Given the description of an element on the screen output the (x, y) to click on. 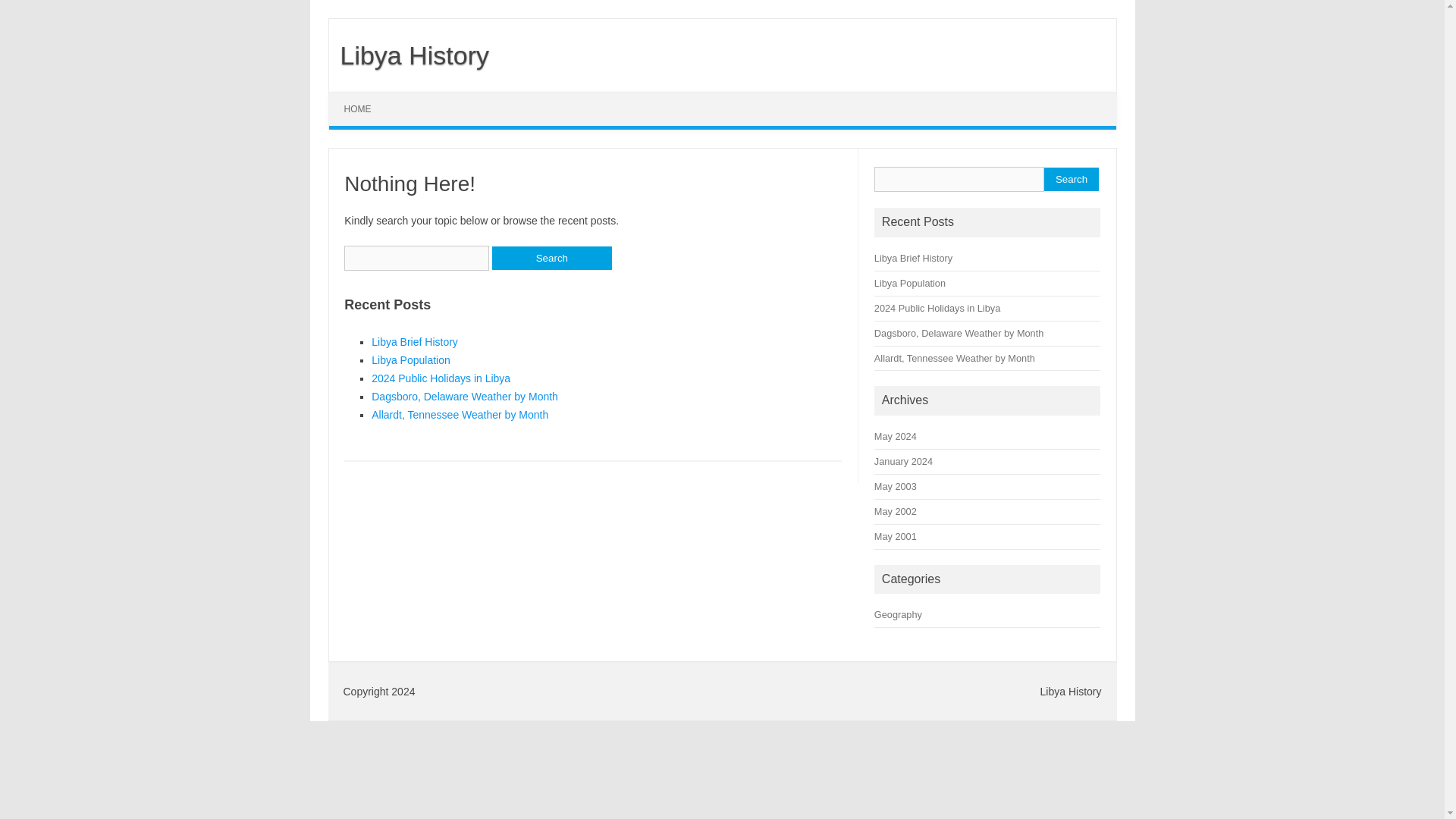
HOME (358, 109)
January 2024 (904, 460)
Search (551, 258)
Libya Brief History (414, 341)
Search (1070, 178)
May 2003 (896, 486)
May 2001 (896, 536)
Allardt, Tennessee Weather by Month (955, 357)
Libya Brief History (913, 257)
Skip to content (363, 96)
2024 Public Holidays in Libya (937, 307)
Search (551, 258)
Libya Population (410, 359)
Dagsboro, Delaware Weather by Month (464, 396)
2024 Public Holidays in Libya (441, 378)
